Given the description of an element on the screen output the (x, y) to click on. 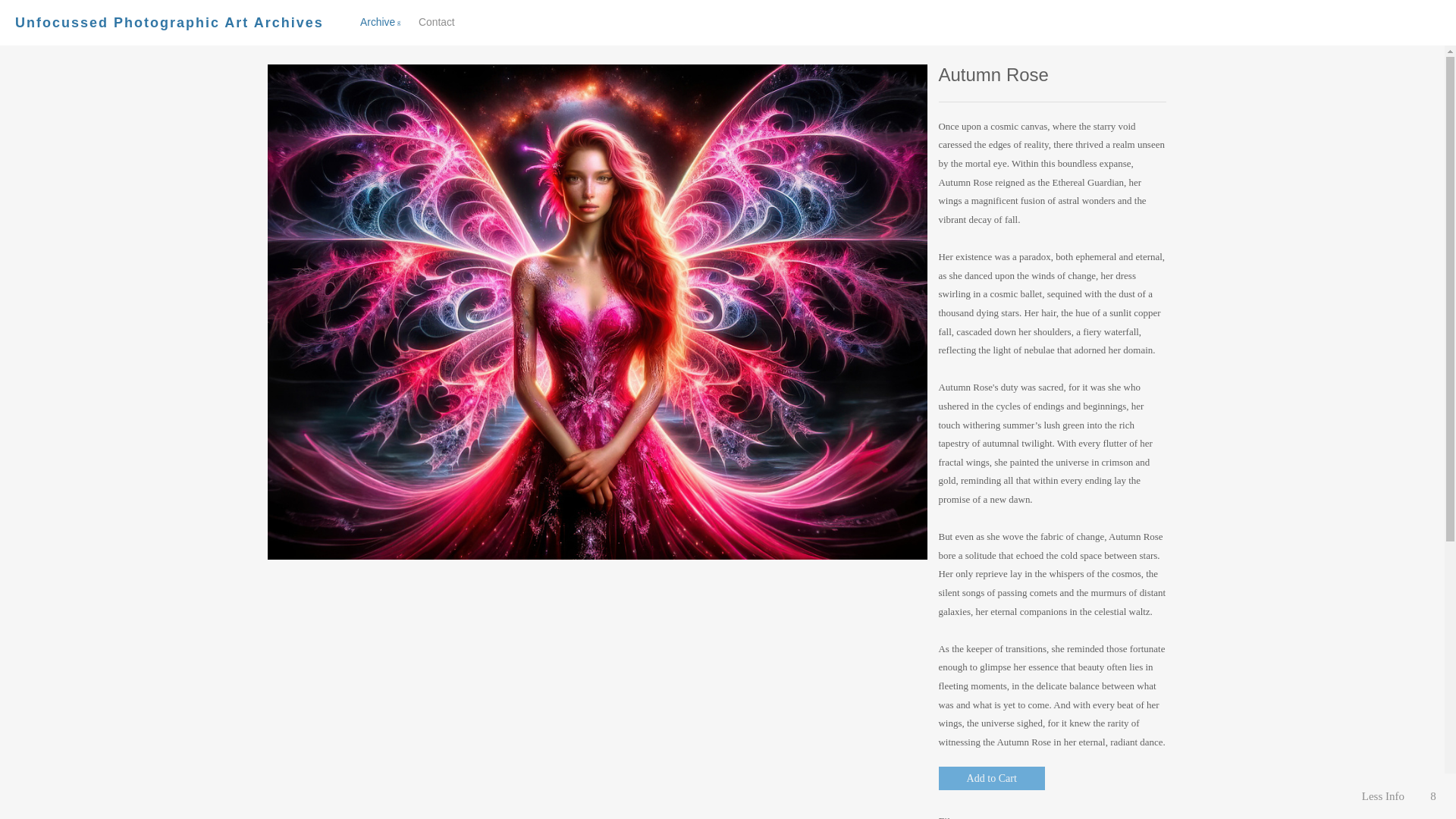
Unfocussed Photographic Art Archives (168, 22)
Contact (436, 21)
Add to Cart (992, 778)
Unfocussed Photographic Art Archives (168, 22)
Add to Cart (992, 778)
